Given the description of an element on the screen output the (x, y) to click on. 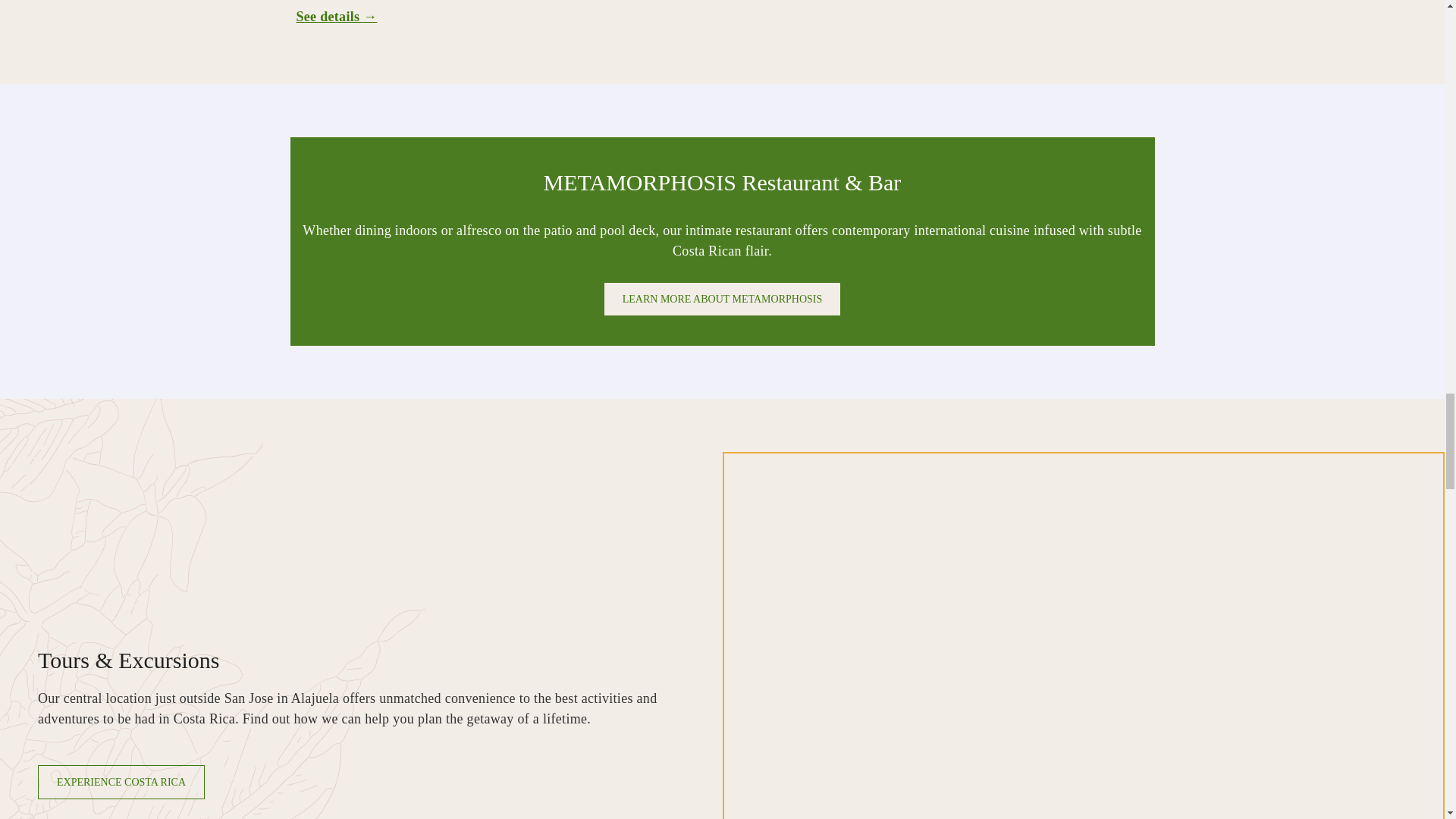
EXPERIENCE COSTA RICA (121, 781)
LEARN MORE ABOUT METAMORPHOSIS (722, 298)
See details (336, 16)
